Given the description of an element on the screen output the (x, y) to click on. 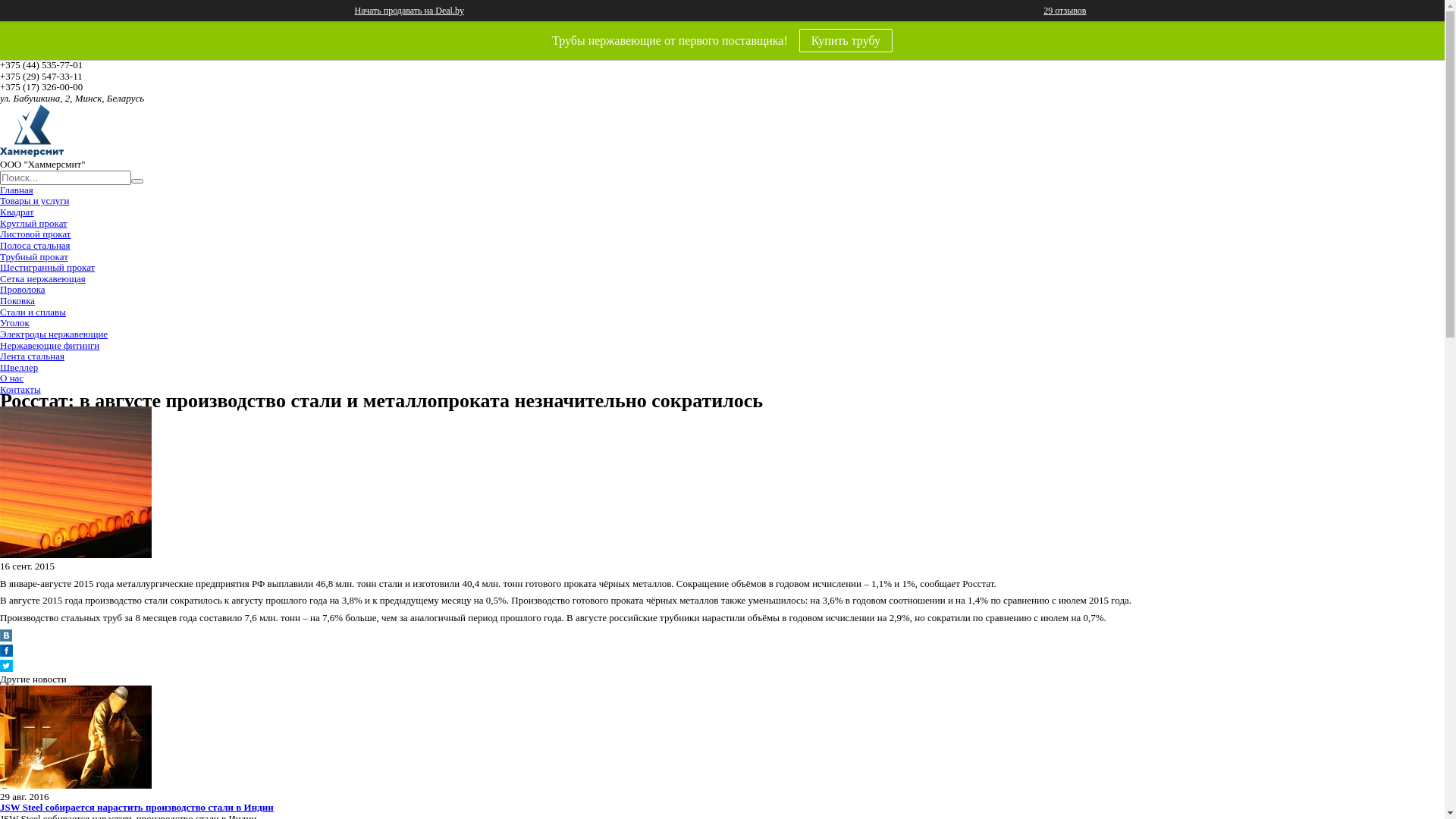
twitter Element type: hover (6, 668)
facebook Element type: hover (6, 652)
